Given the description of an element on the screen output the (x, y) to click on. 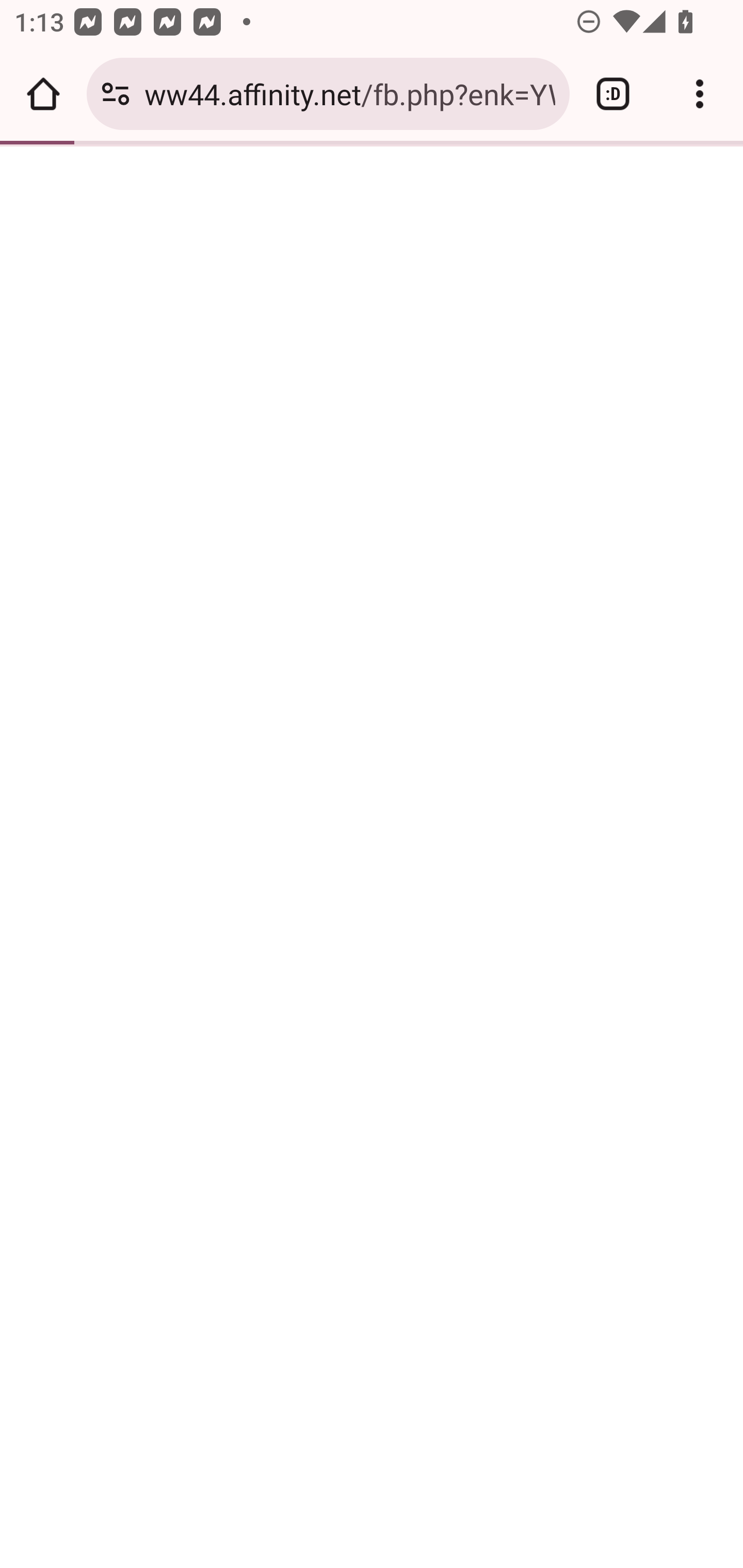
Open the home page (43, 93)
Connection is secure (115, 93)
Switch or close tabs (612, 93)
Customize and control Google Chrome (699, 93)
